Given the description of an element on the screen output the (x, y) to click on. 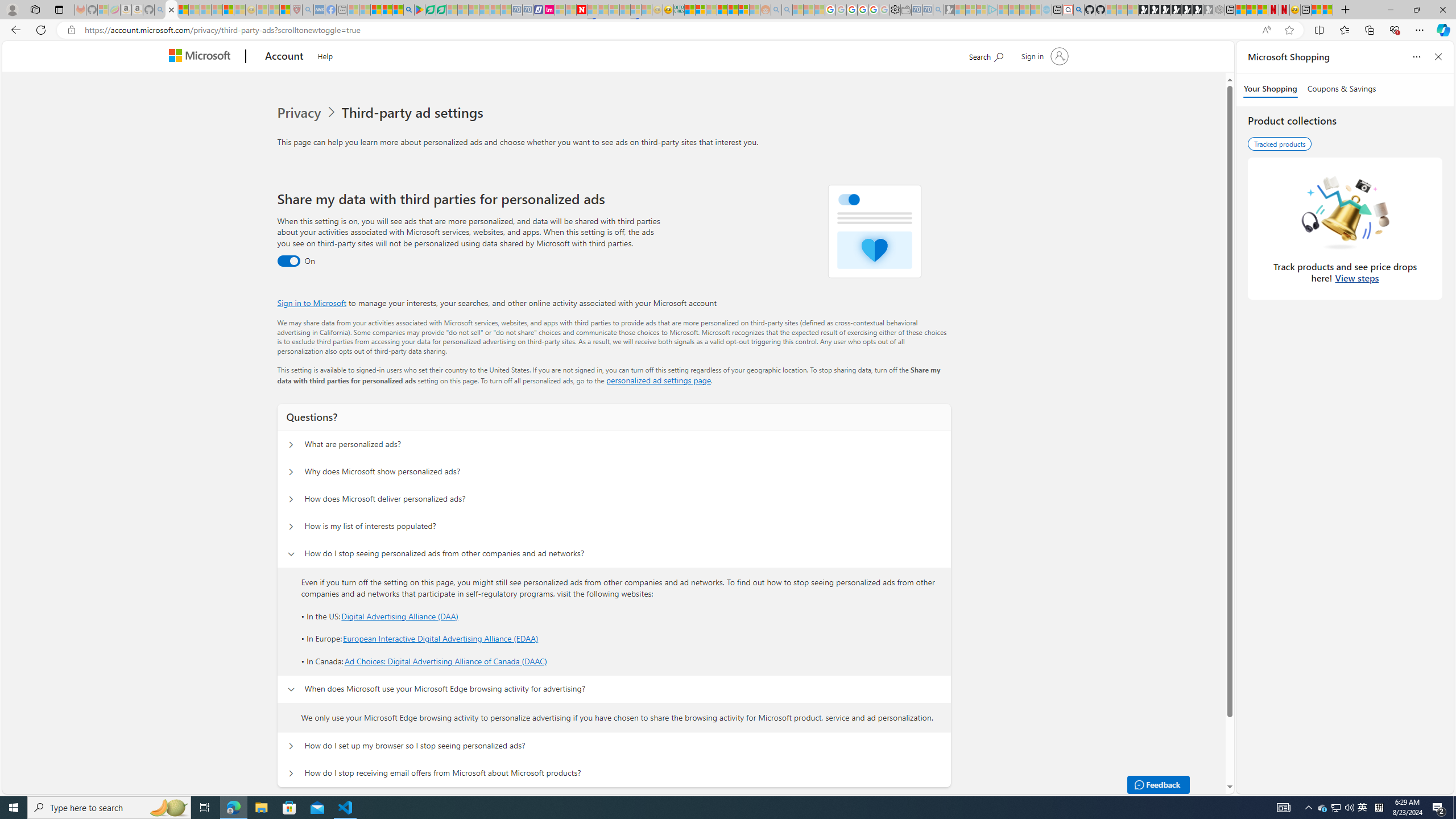
Kinda Frugal - MSN (733, 9)
